Given the description of an element on the screen output the (x, y) to click on. 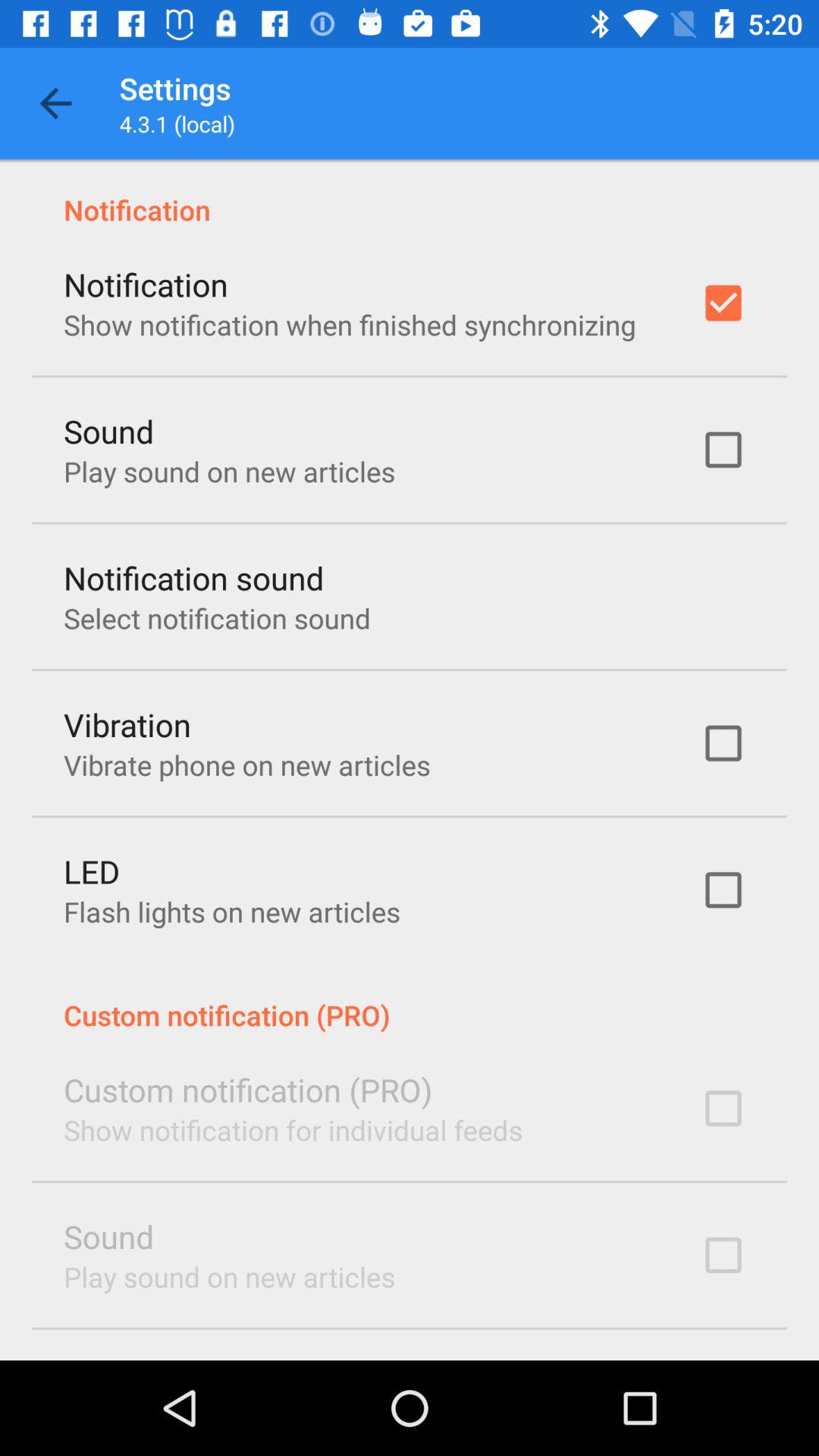
turn on the item above the led (246, 764)
